Given the description of an element on the screen output the (x, y) to click on. 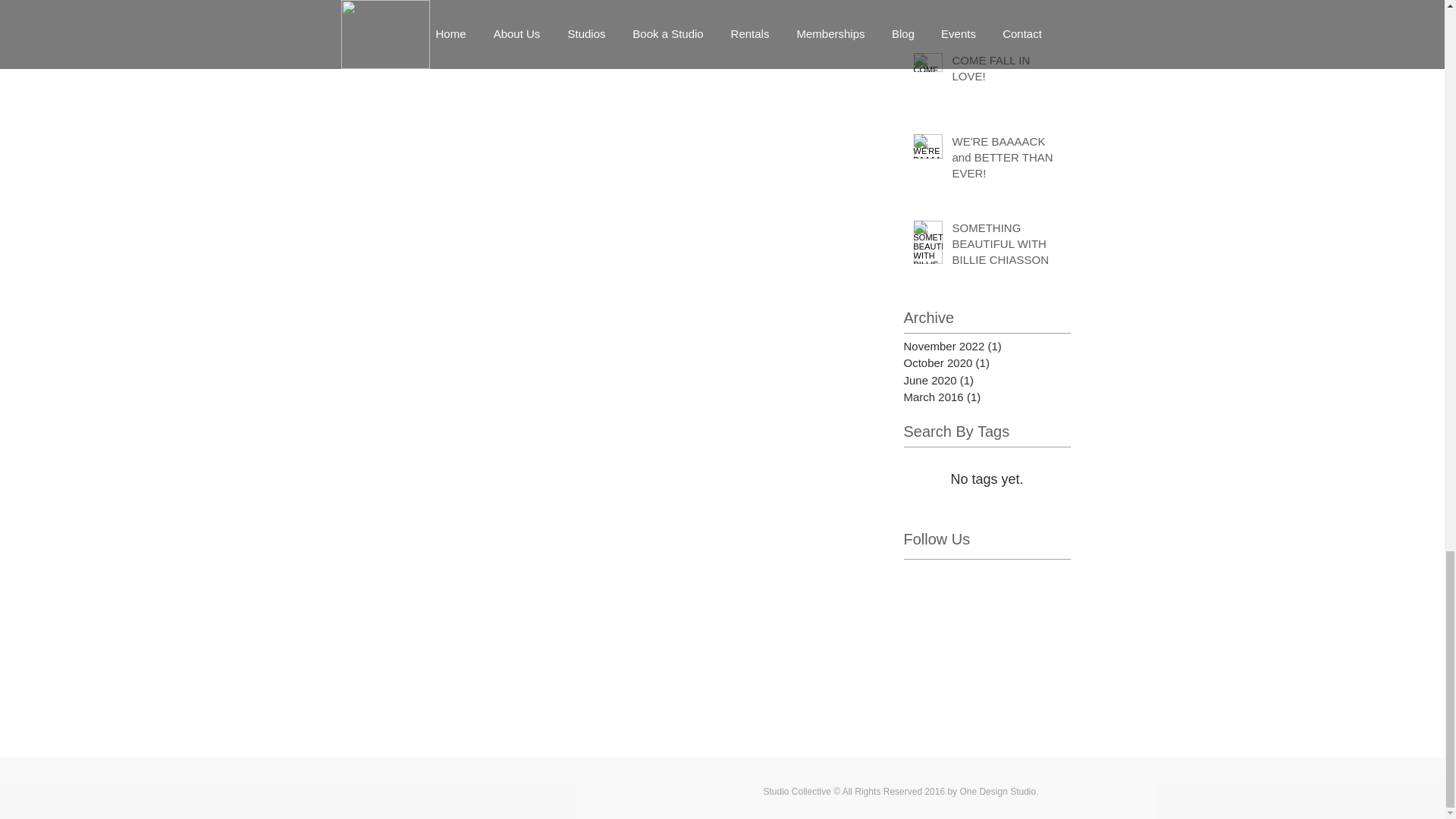
COME FALL IN LOVE! (1006, 71)
WE'RE BAAAACK and BETTER THAN EVER! (1006, 160)
SOMETHING BEAUTIFUL WITH BILLIE CHIASSON (1006, 246)
